Given the description of an element on the screen output the (x, y) to click on. 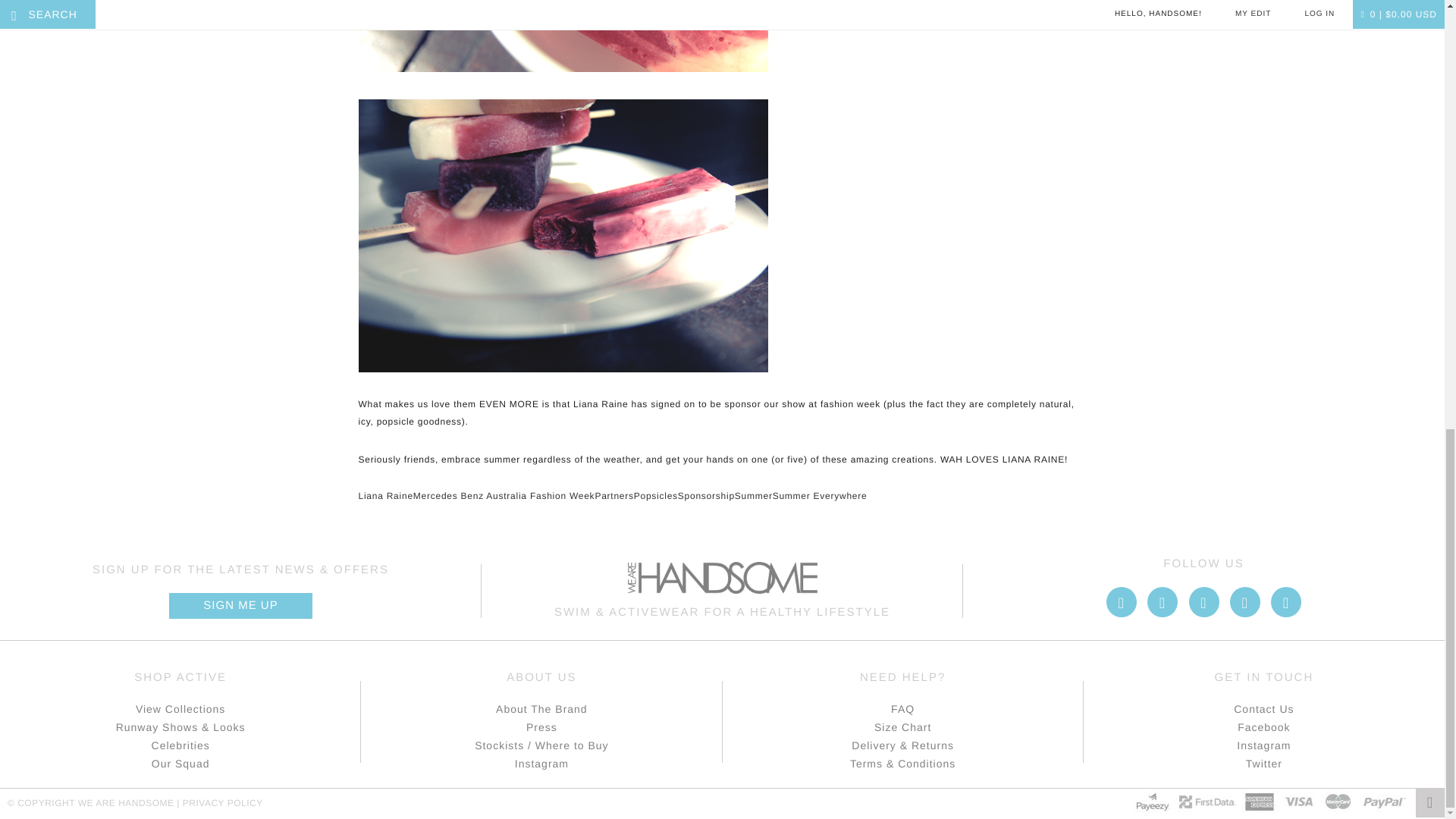
Summer Everywhere (820, 495)
SIGN ME UP (239, 605)
Mercedes Benz Australia Fashion Week (504, 495)
Partners (613, 495)
Celebrities (180, 745)
Popsicles (655, 495)
About The Brand (540, 709)
Sponsorship (706, 495)
Summer (754, 495)
Liana Raine (385, 495)
Our Squad (180, 763)
View Collections (180, 709)
